Given the description of an element on the screen output the (x, y) to click on. 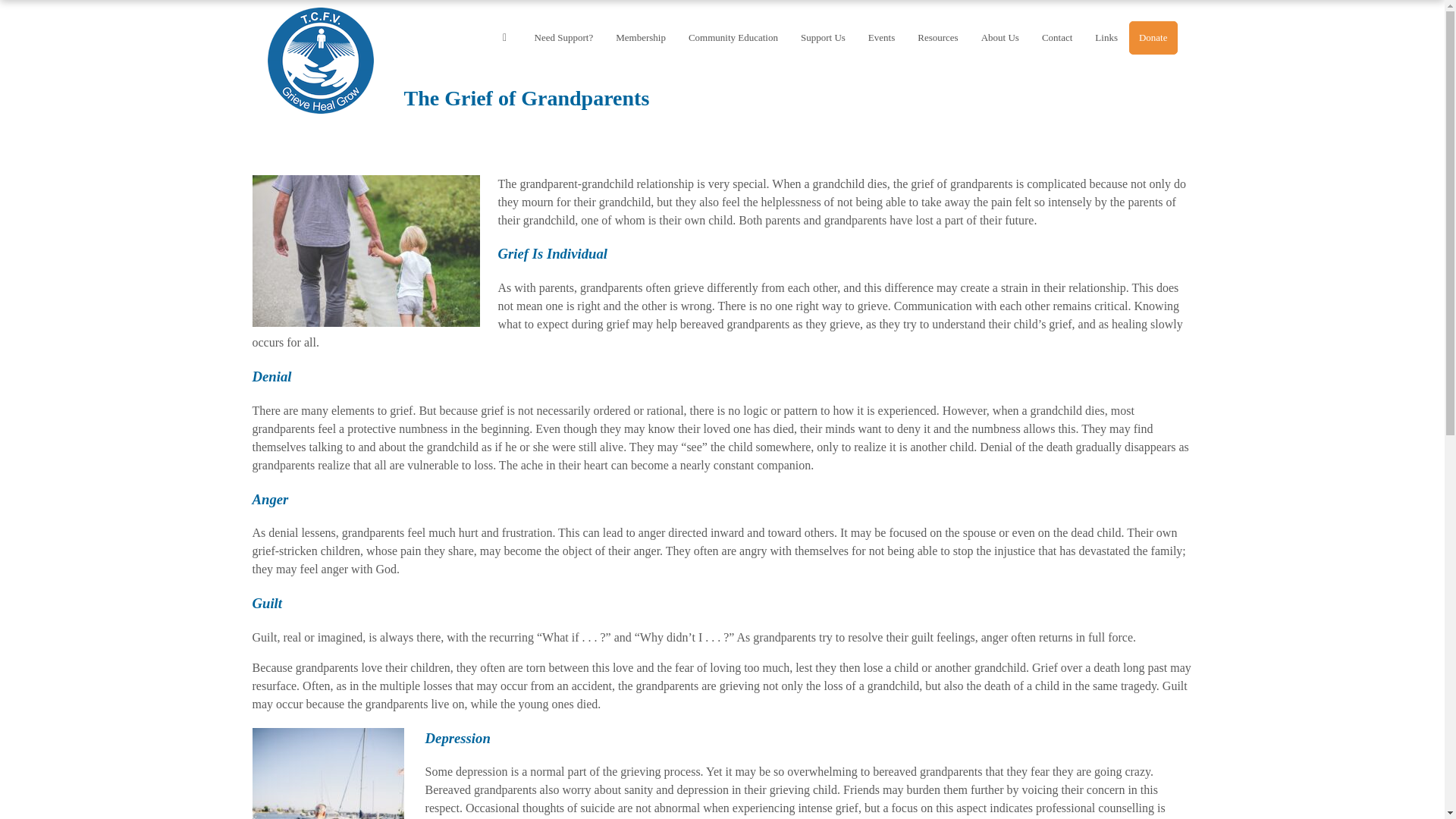
Membership (640, 37)
